Given the description of an element on the screen output the (x, y) to click on. 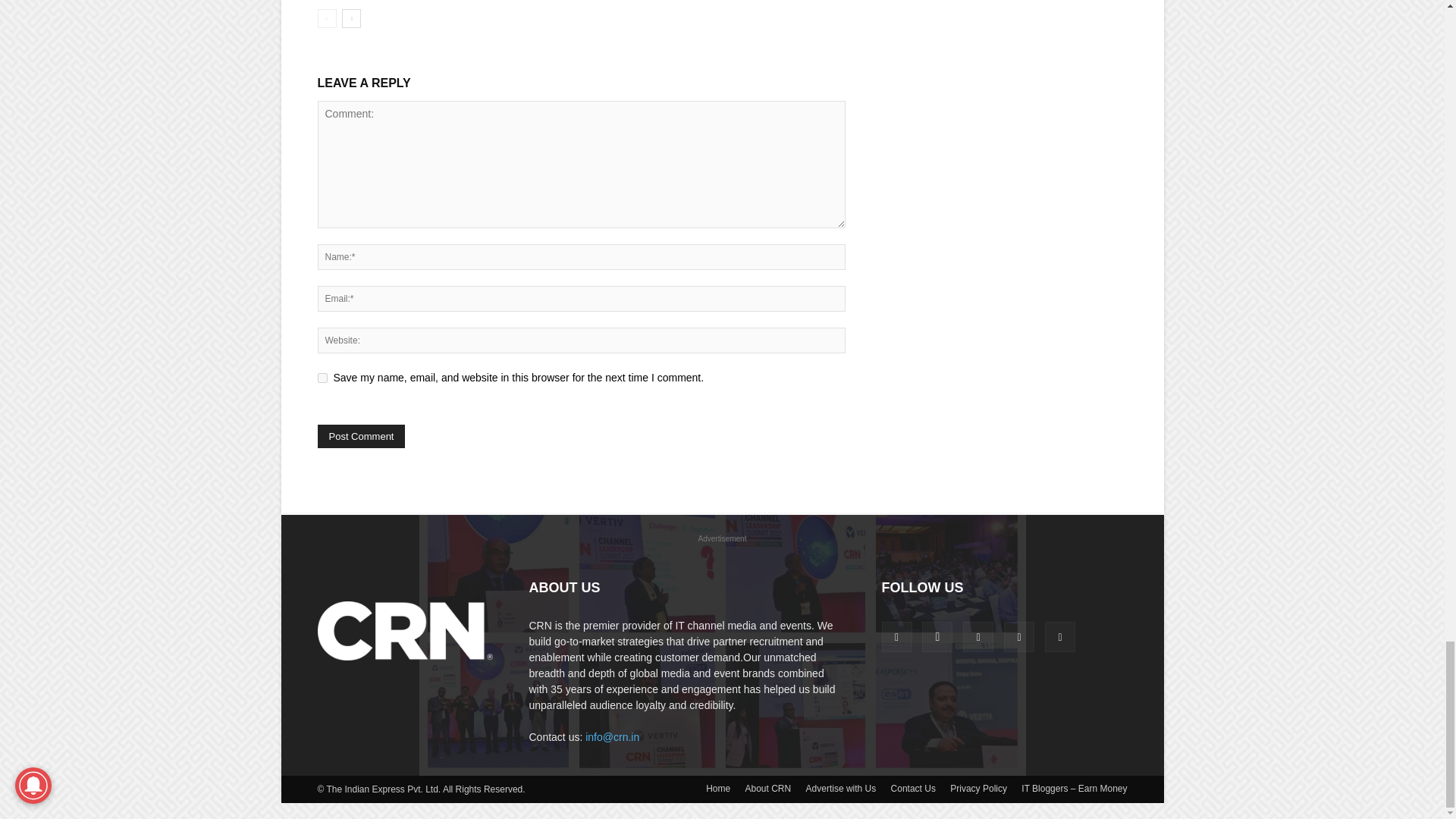
yes (321, 378)
Post Comment (360, 436)
